Given the description of an element on the screen output the (x, y) to click on. 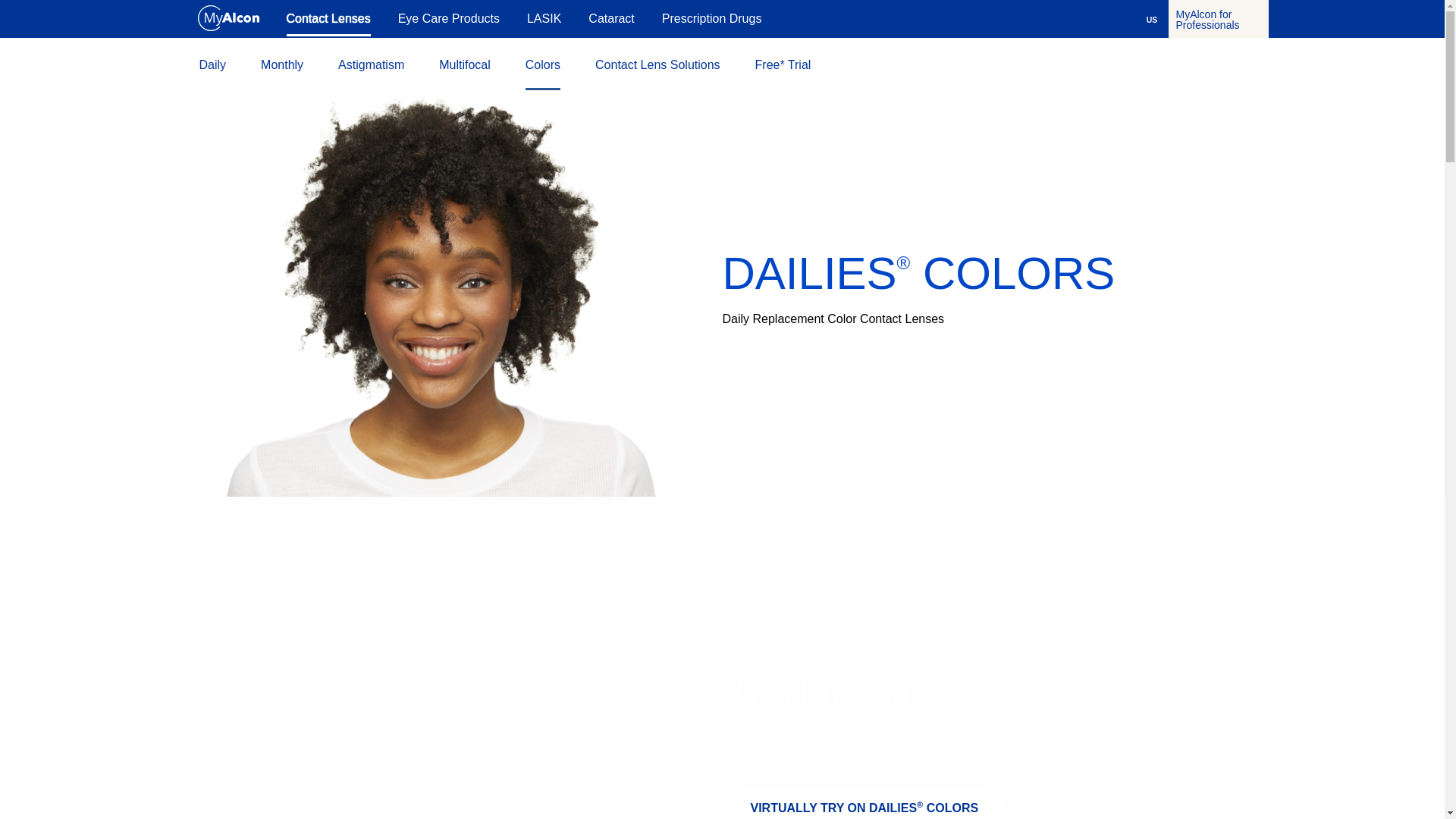
Eye Care Products (448, 18)
Cataract (610, 18)
Switch language (1151, 18)
Multifocal (464, 63)
MyAlcon for Professionals (1217, 18)
Laser vision correction (543, 18)
Contact Lenses (328, 20)
Astigmatism (370, 63)
Contact Lens Solutions (657, 63)
US (1151, 18)
Prescription Drugs (711, 18)
MyAlcon for Professionals (1217, 18)
LASIK (543, 18)
